Given the description of an element on the screen output the (x, y) to click on. 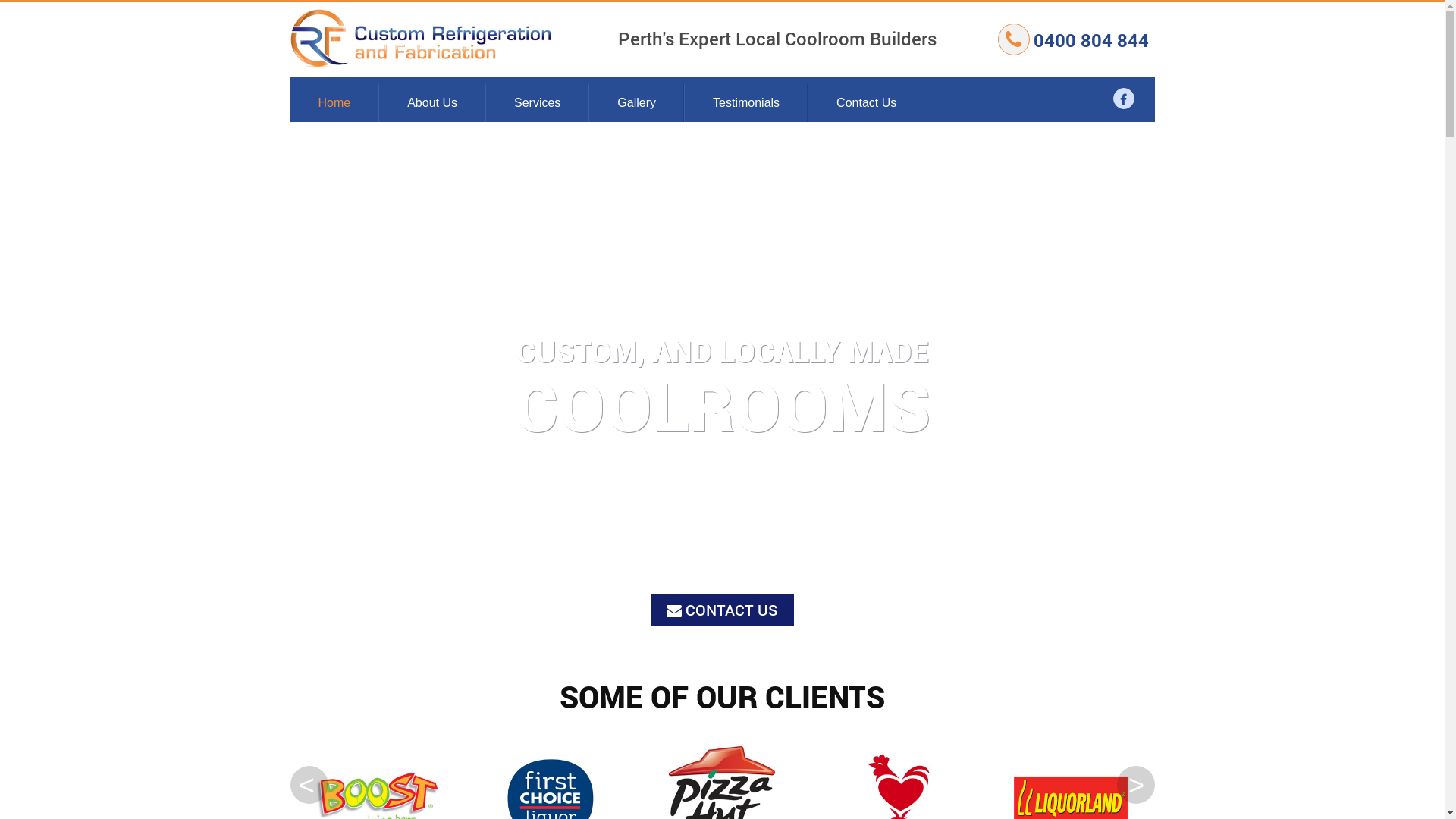
About Us Element type: text (431, 103)
CONTACT US Element type: text (721, 609)
Testimonials Element type: text (745, 103)
Home Element type: text (333, 103)
Gallery Element type: text (636, 103)
Services Element type: text (536, 103)
Contact Us Element type: text (866, 103)
